Given the description of an element on the screen output the (x, y) to click on. 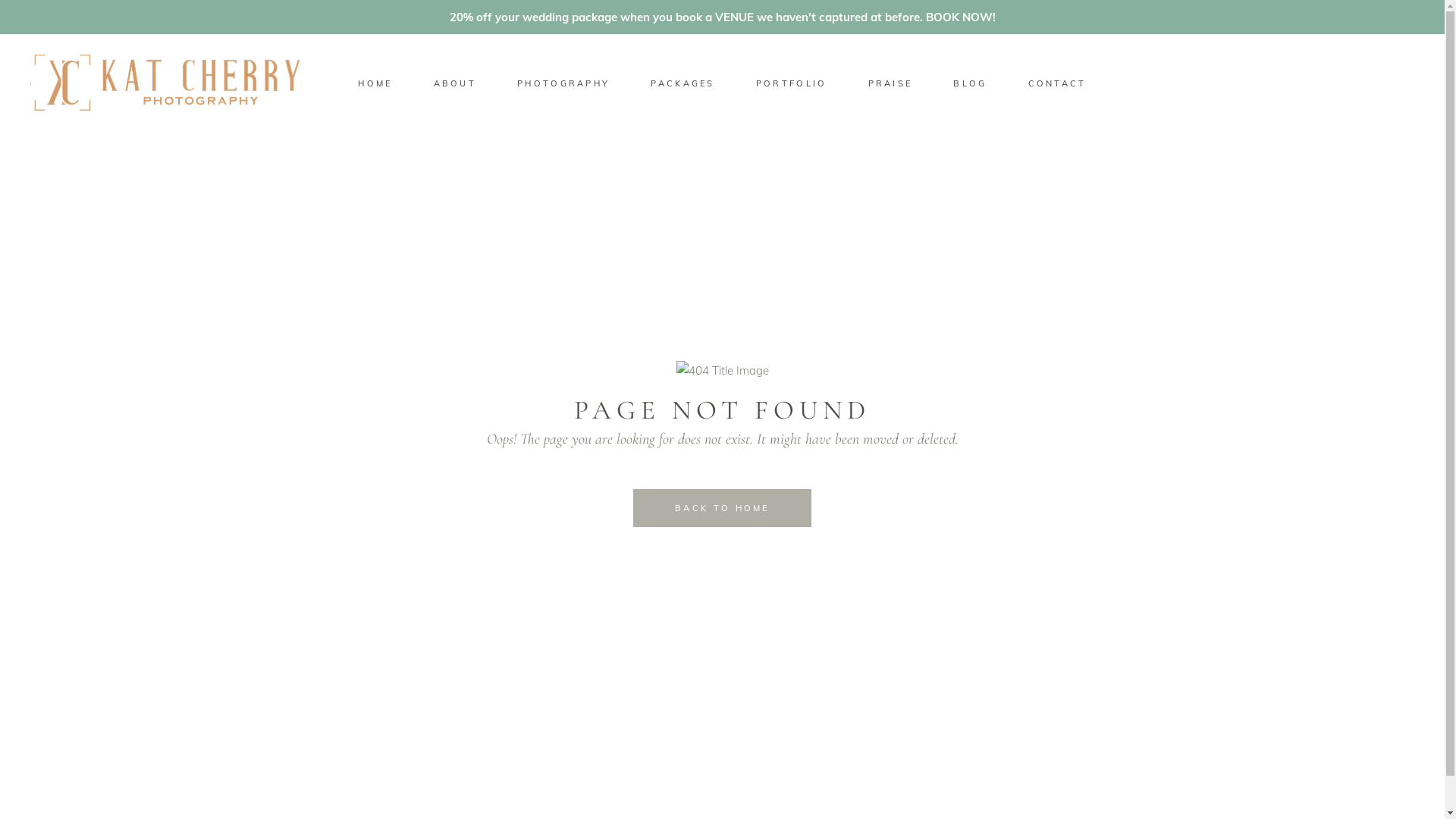
HOME Element type: text (374, 82)
PACKAGES Element type: text (682, 82)
CONTACT Element type: text (1057, 82)
PORTFOLIO Element type: text (791, 82)
BACK TO HOME Element type: text (722, 507)
PHOTOGRAPHY Element type: text (563, 82)
ABOUT Element type: text (455, 82)
PRAISE Element type: text (890, 82)
BLOG Element type: text (969, 82)
